Given the description of an element on the screen output the (x, y) to click on. 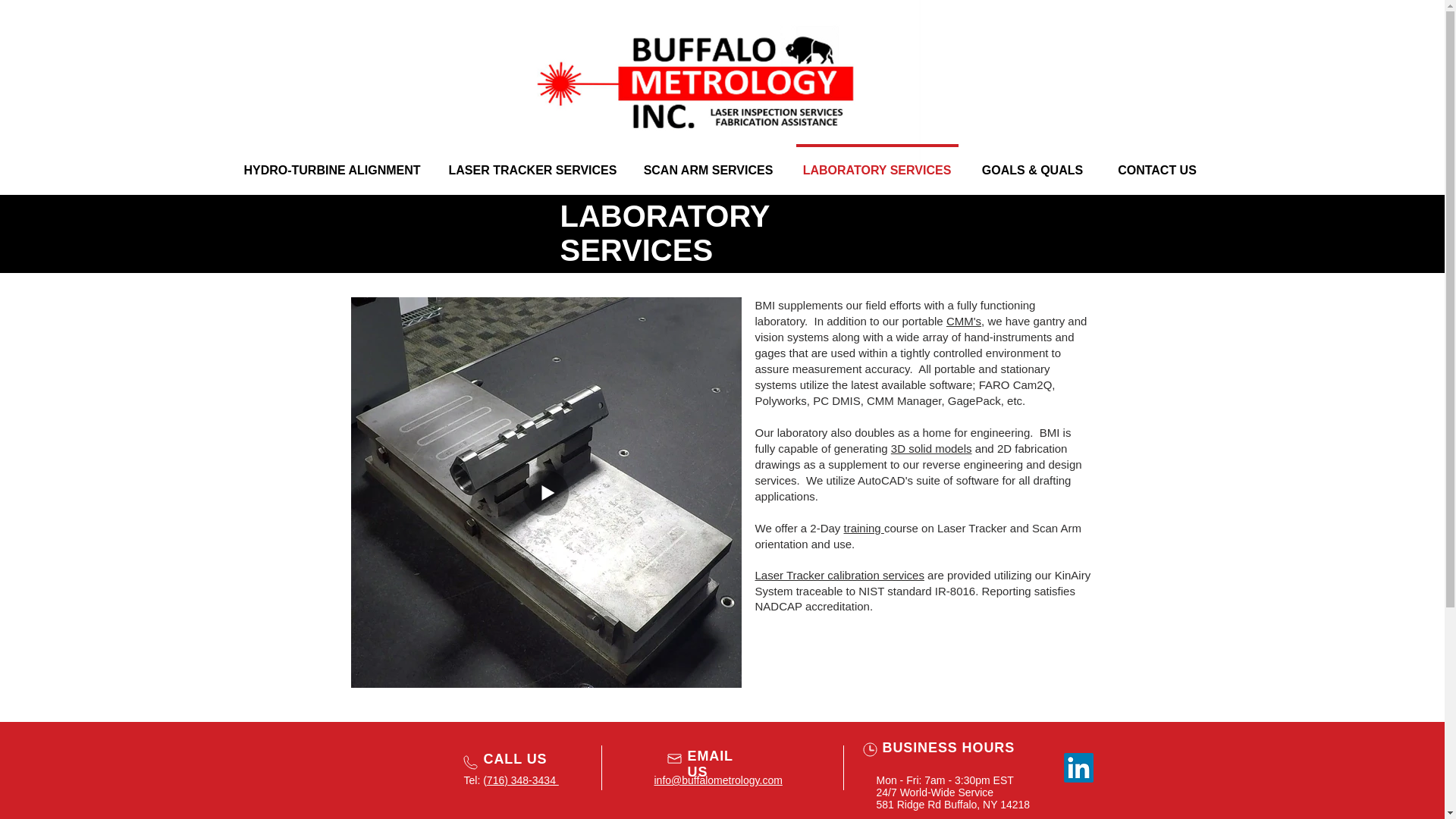
HYDRO-TURBINE ALIGNMENT (330, 163)
CMM's (963, 320)
LABORATORY SERVICES (877, 163)
Laser Tracker calibration services (839, 574)
CONTACT US (1157, 163)
SCAN ARM SERVICES (707, 163)
training (863, 527)
3D solid models (931, 448)
LASER TRACKER SERVICES (531, 163)
